Given the description of an element on the screen output the (x, y) to click on. 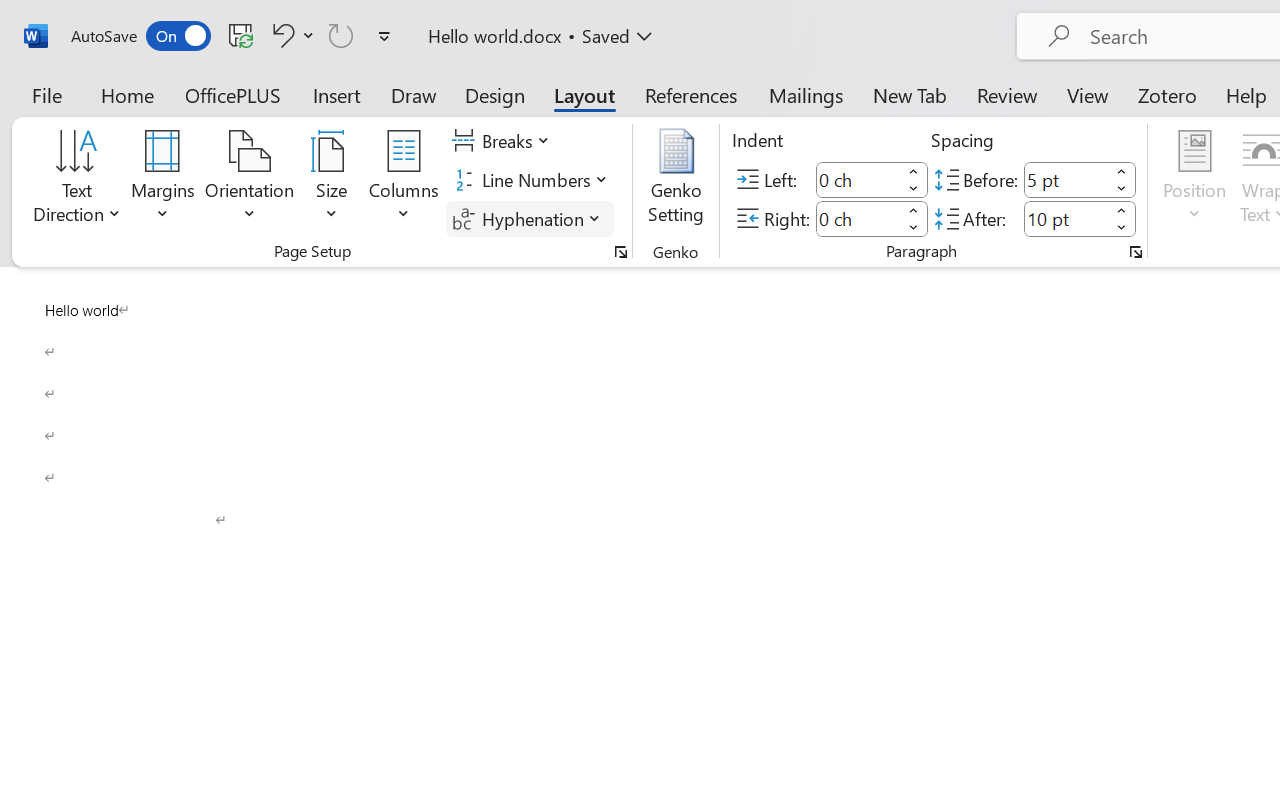
Position (1194, 179)
Draw (413, 94)
Paragraph... (1135, 252)
Zotero (1166, 94)
Indent Right (858, 218)
Save (241, 35)
Mailings (806, 94)
Spacing Before (1066, 179)
AutoSave (140, 35)
Can't Repeat (341, 35)
Insert (337, 94)
Home (127, 94)
